Given the description of an element on the screen output the (x, y) to click on. 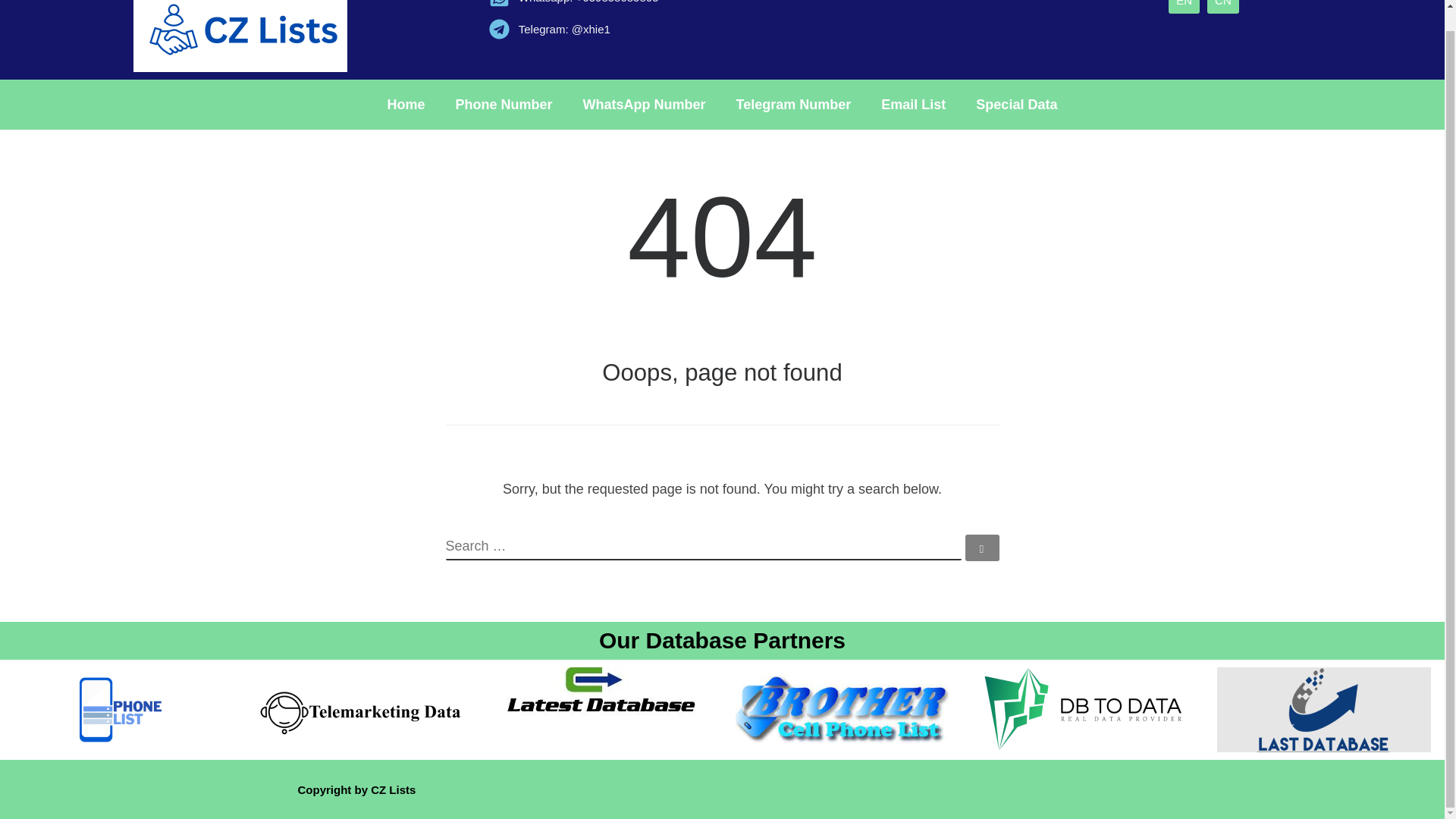
Special Data (1015, 104)
CZ Lists (392, 789)
Phone Number (504, 104)
Telegram Number (793, 104)
Email List (913, 104)
EN (1184, 6)
CN (1223, 6)
WhatsApp Number (643, 104)
Home (406, 104)
